Given the description of an element on the screen output the (x, y) to click on. 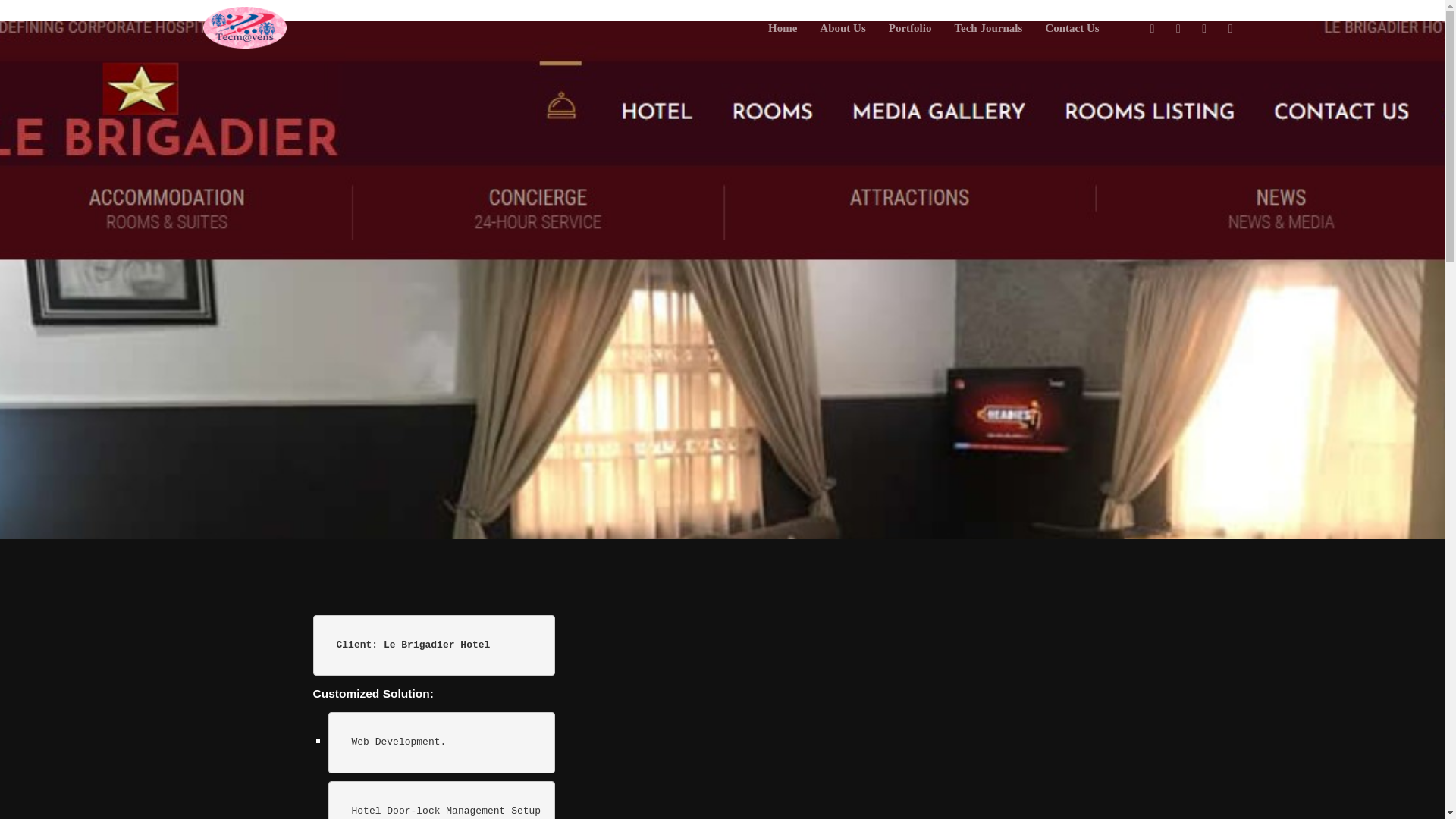
Tech Journals (987, 28)
Contact Us (1071, 28)
Portfolio (910, 28)
Home (782, 28)
About Us (842, 28)
